Given the description of an element on the screen output the (x, y) to click on. 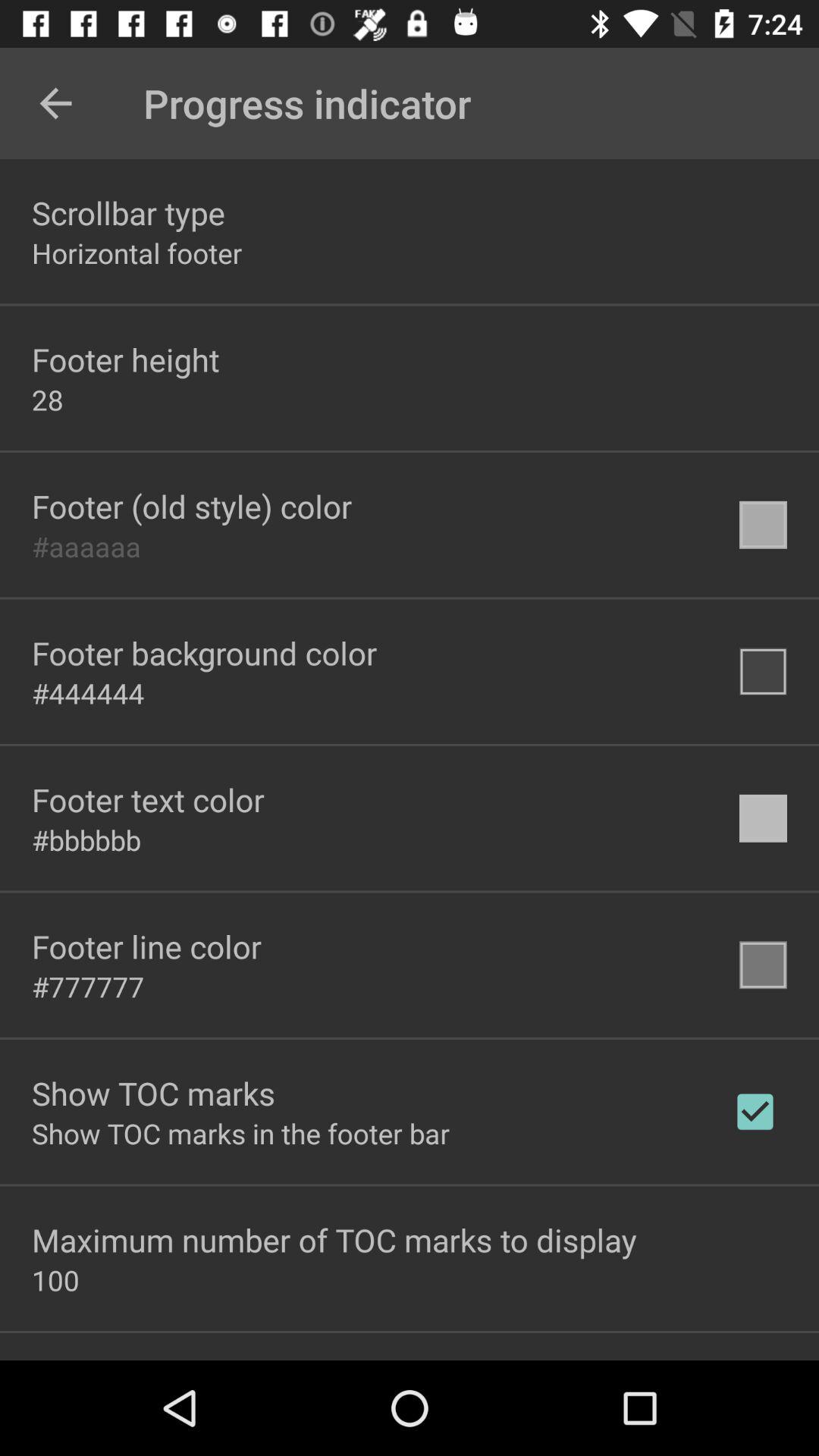
turn on maximum number of icon (334, 1239)
